Given the description of an element on the screen output the (x, y) to click on. 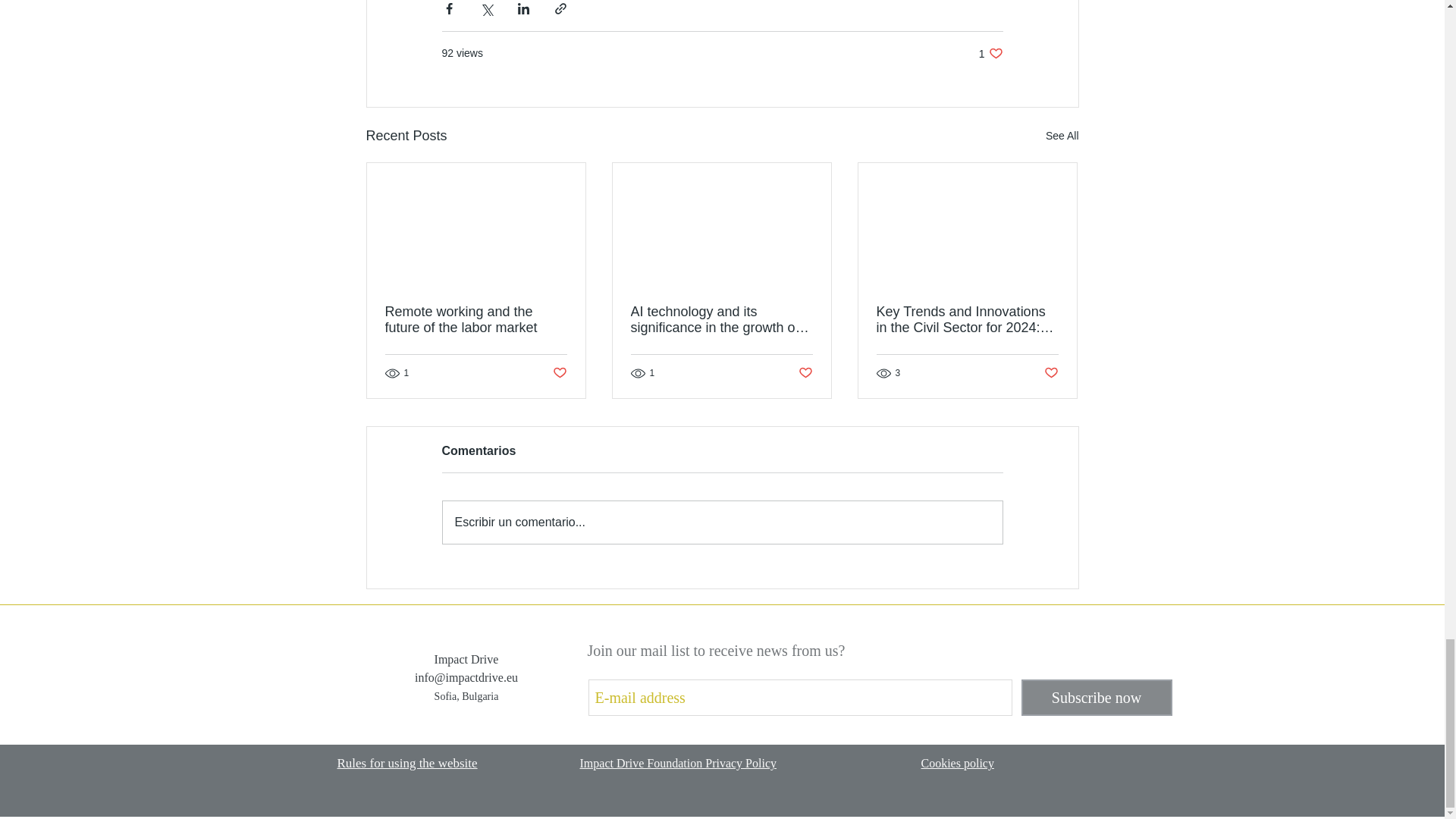
See All (1061, 136)
Post not marked as liked (1050, 373)
Post not marked as liked (804, 373)
Post not marked as liked (558, 373)
Remote working and the future of the labor market (476, 319)
